Given the description of an element on the screen output the (x, y) to click on. 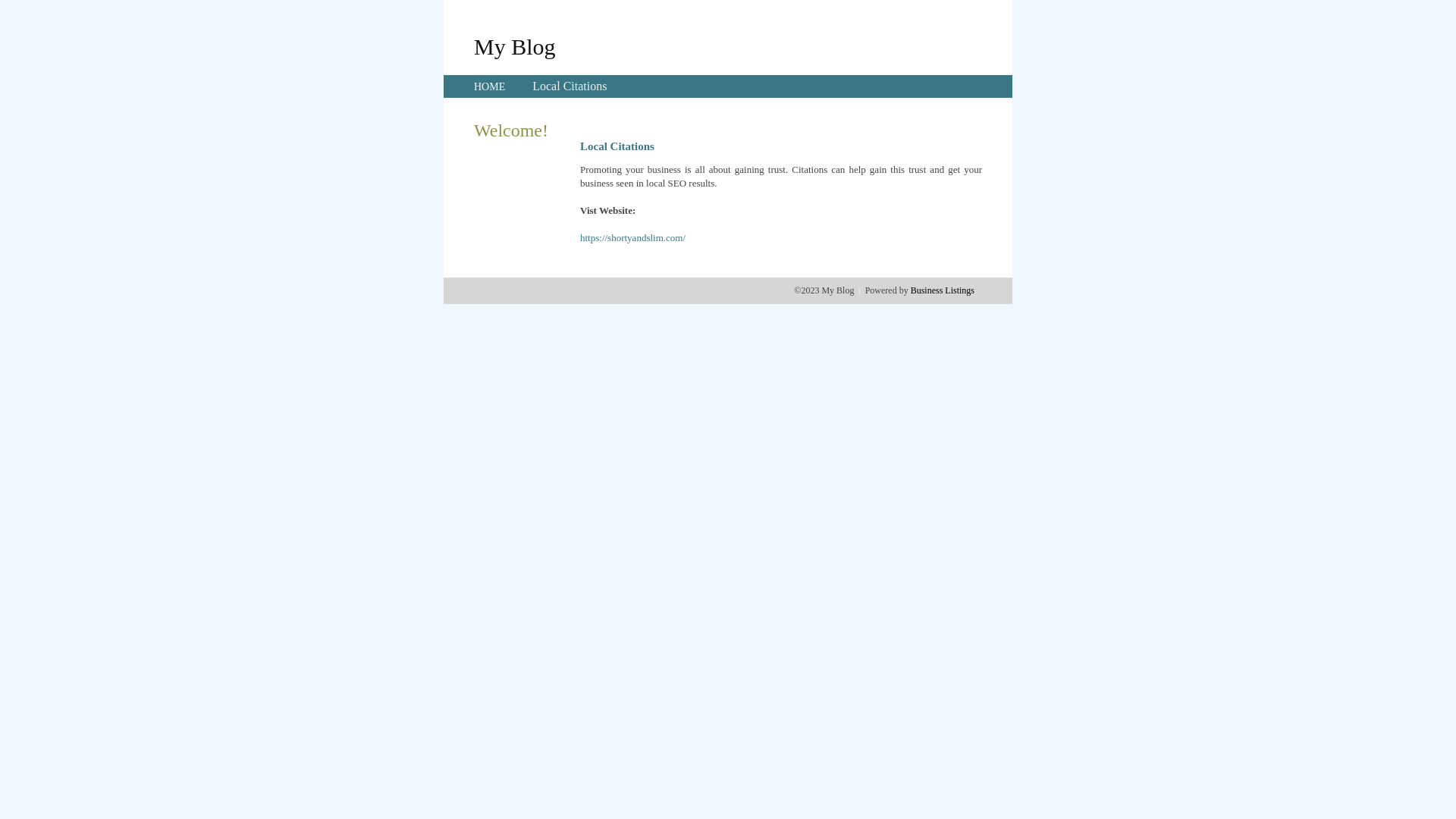
https://shortyandslim.com/ Element type: text (632, 237)
HOME Element type: text (489, 86)
My Blog Element type: text (514, 46)
Local Citations Element type: text (569, 85)
Business Listings Element type: text (942, 290)
